Given the description of an element on the screen output the (x, y) to click on. 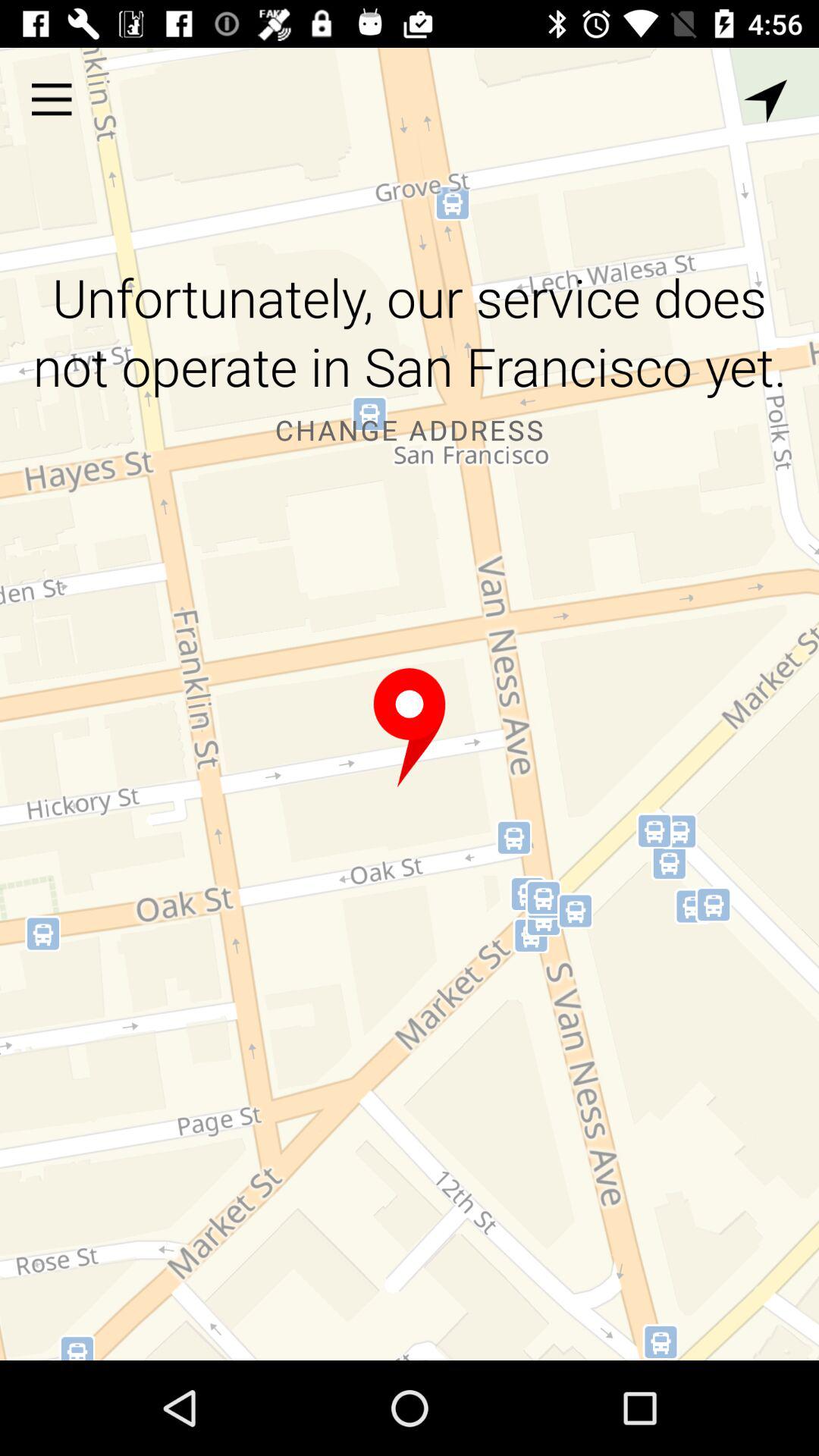
open icon above unfortunately our service icon (51, 99)
